Given the description of an element on the screen output the (x, y) to click on. 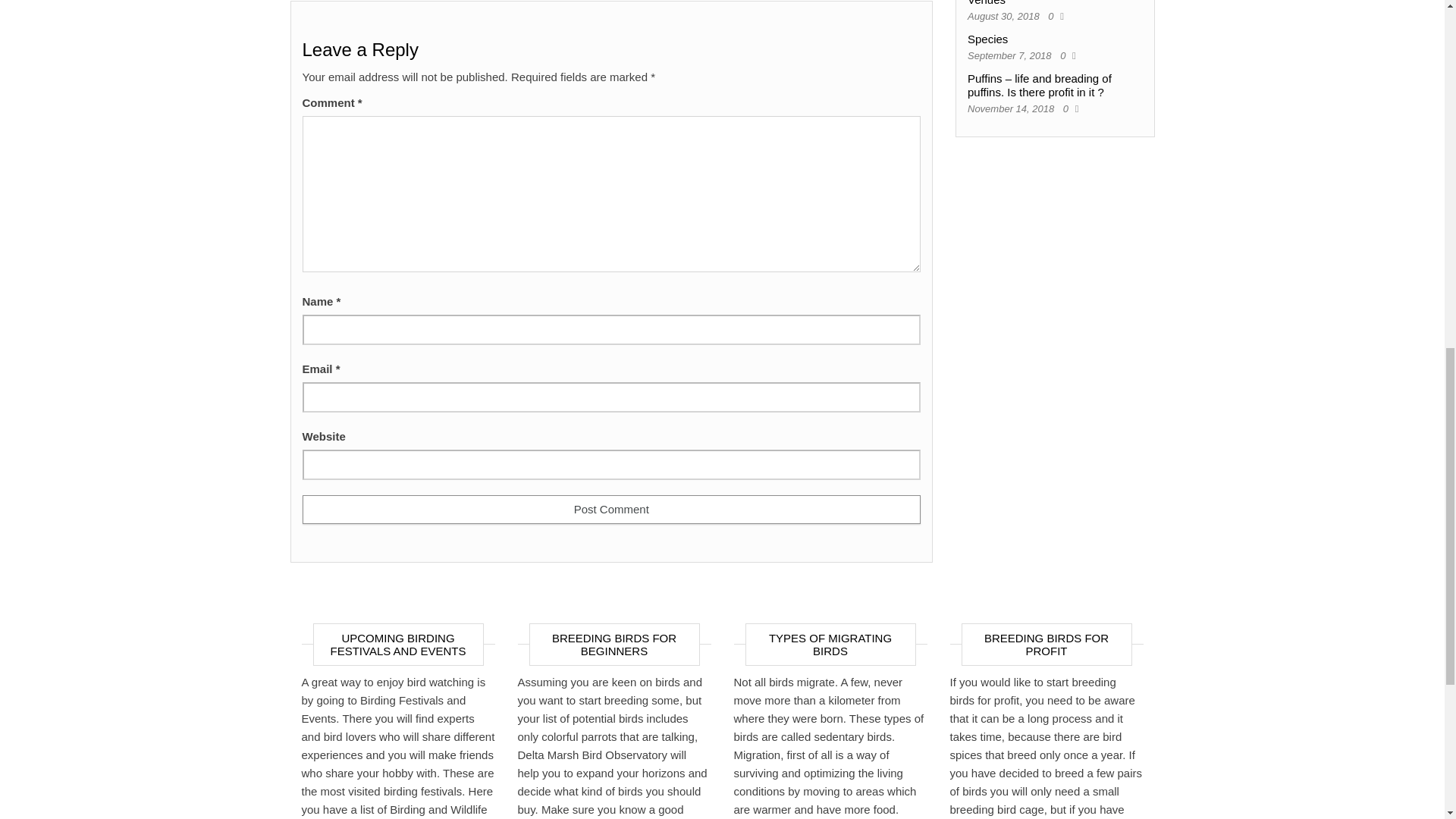
0 (1068, 108)
0 (1053, 16)
Species (987, 38)
Post Comment (610, 509)
Comment on Venues (1053, 16)
Post Comment (610, 509)
0 (1065, 55)
Venues (987, 2)
Comment on Species (1065, 55)
